Given the description of an element on the screen output the (x, y) to click on. 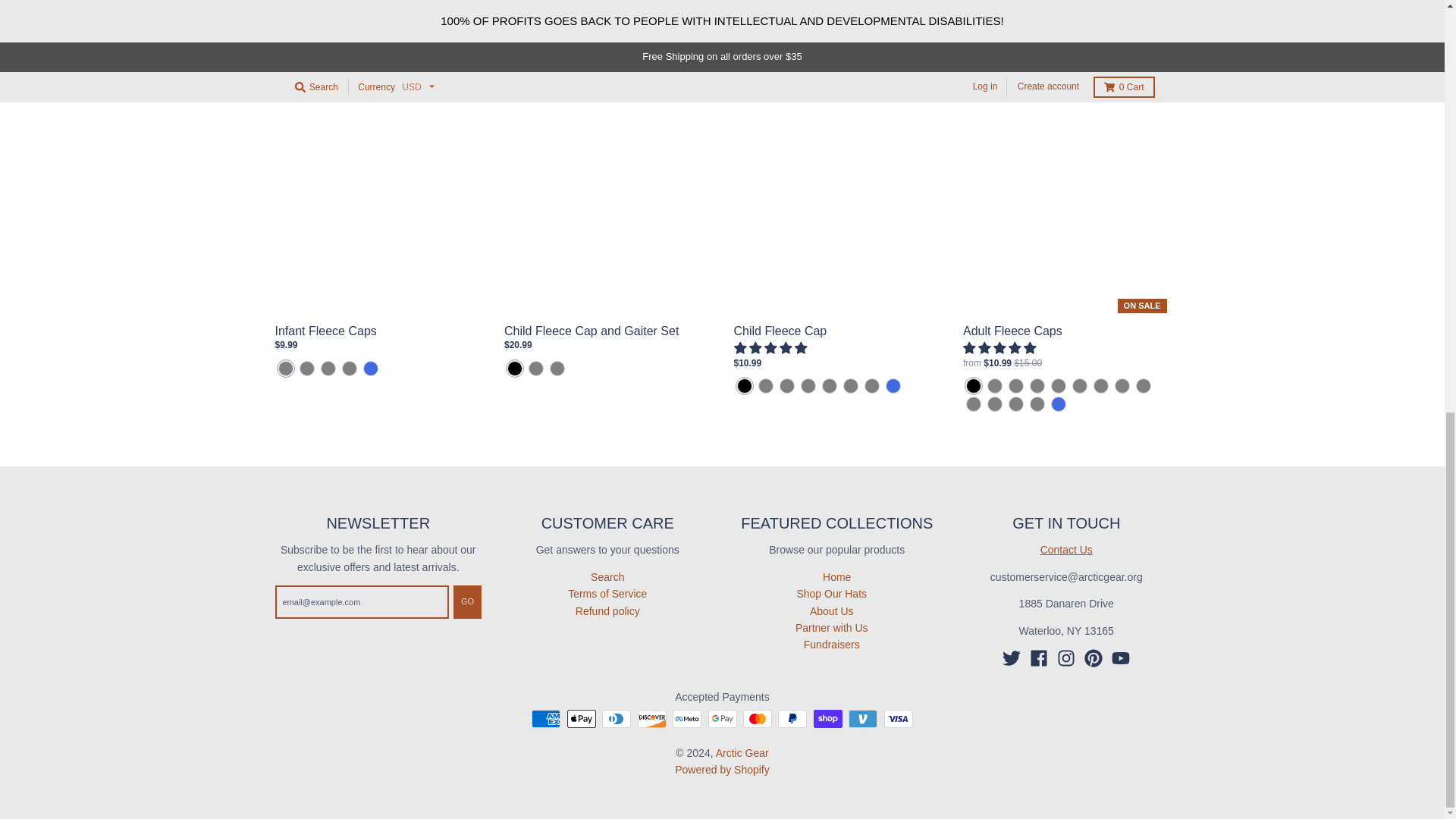
Blue Dino (285, 368)
Rainbow Heart (306, 368)
Spooky Halloween-Limited Edition (327, 368)
